Given the description of an element on the screen output the (x, y) to click on. 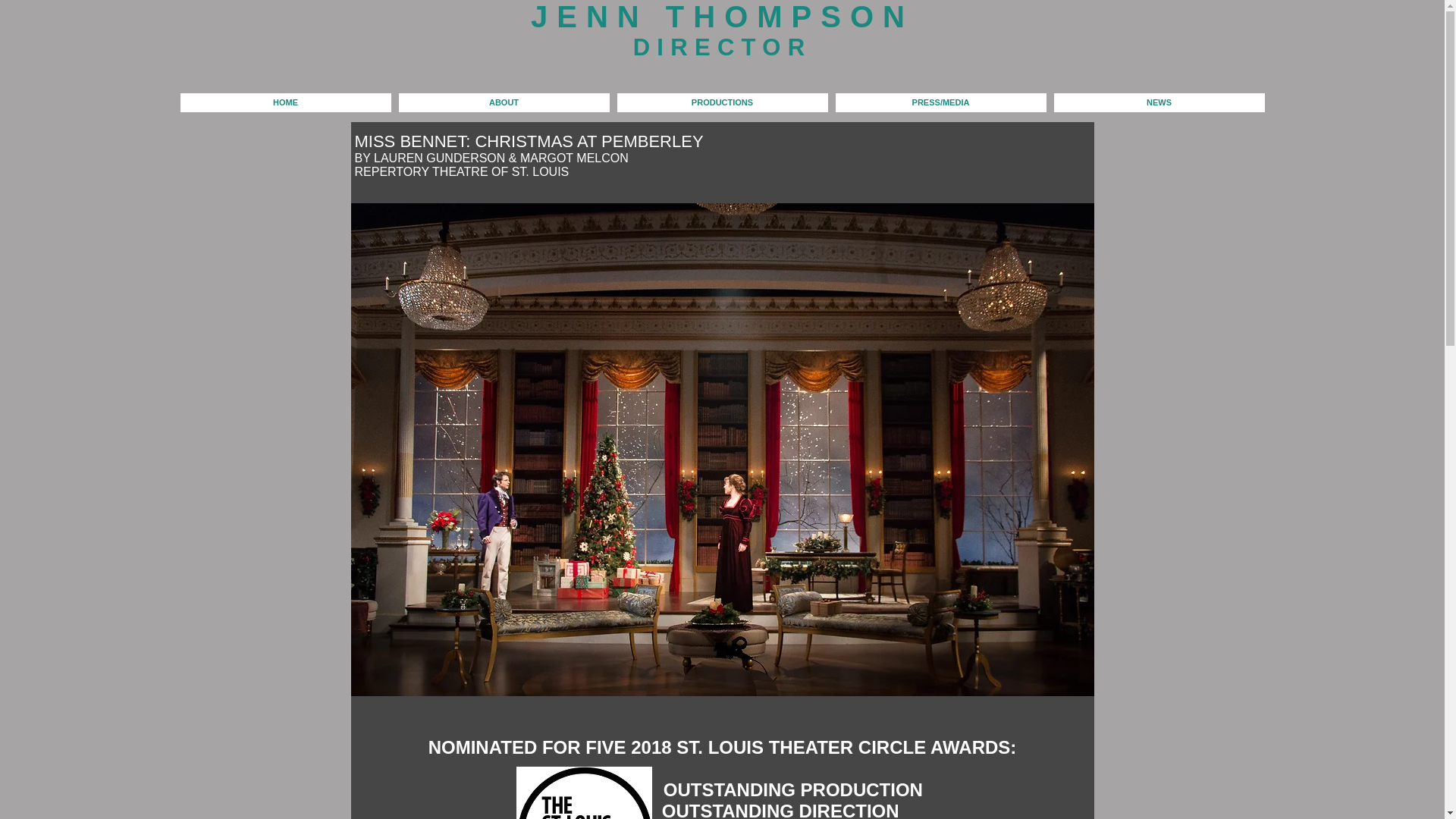
HOME (285, 102)
JENN THOMPSON (722, 16)
